Given the description of an element on the screen output the (x, y) to click on. 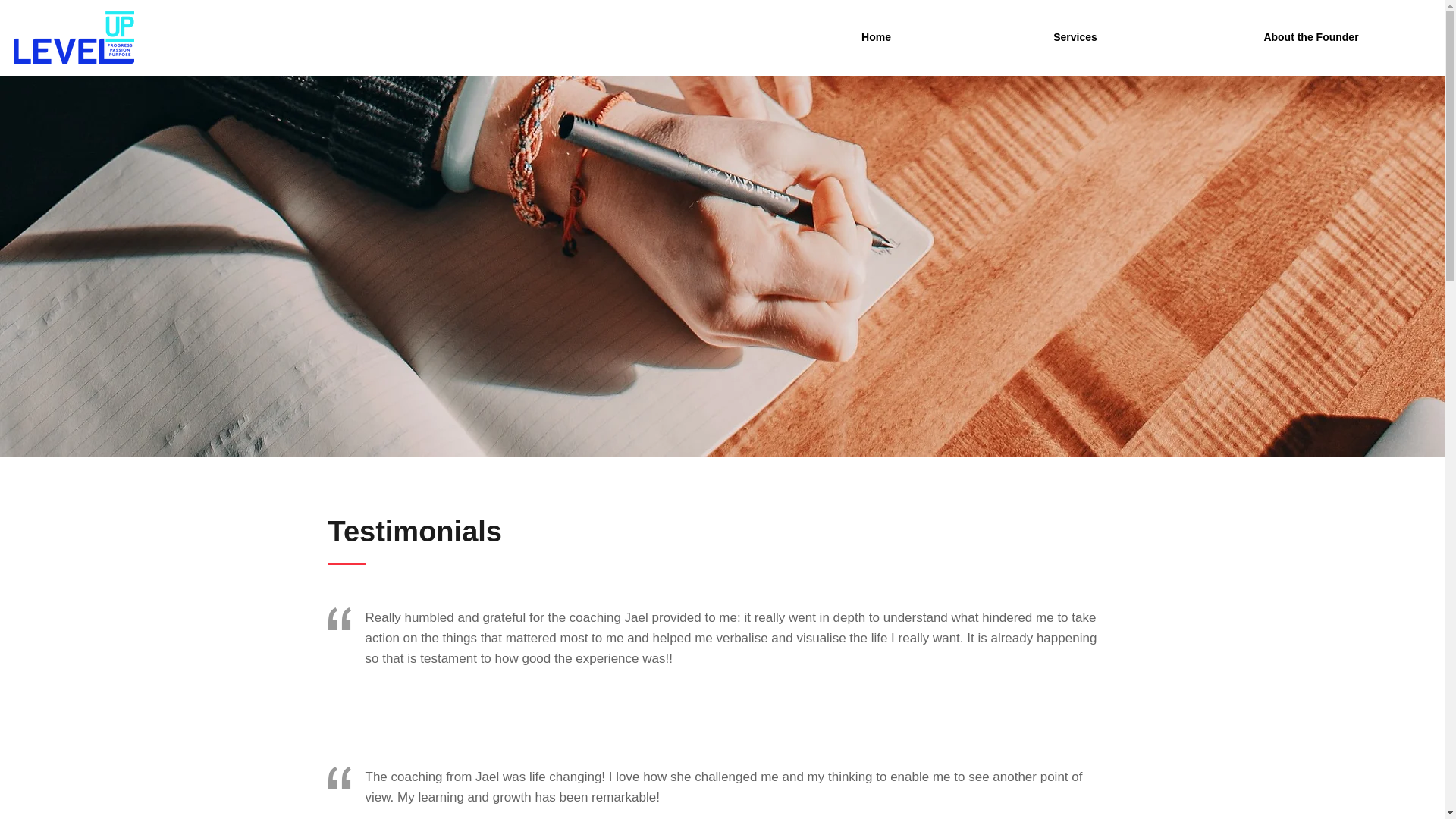
Home (875, 37)
